Given the description of an element on the screen output the (x, y) to click on. 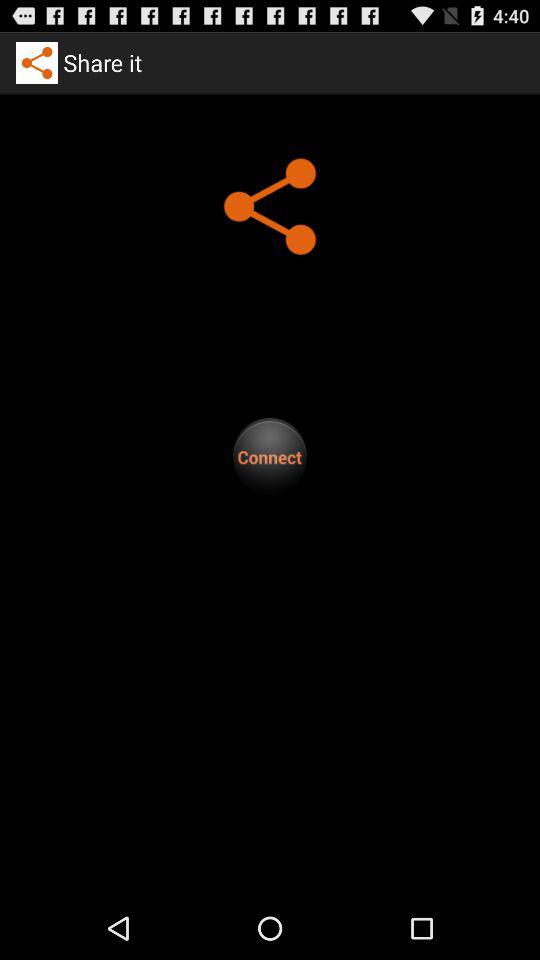
connect to wifi (270, 456)
